Given the description of an element on the screen output the (x, y) to click on. 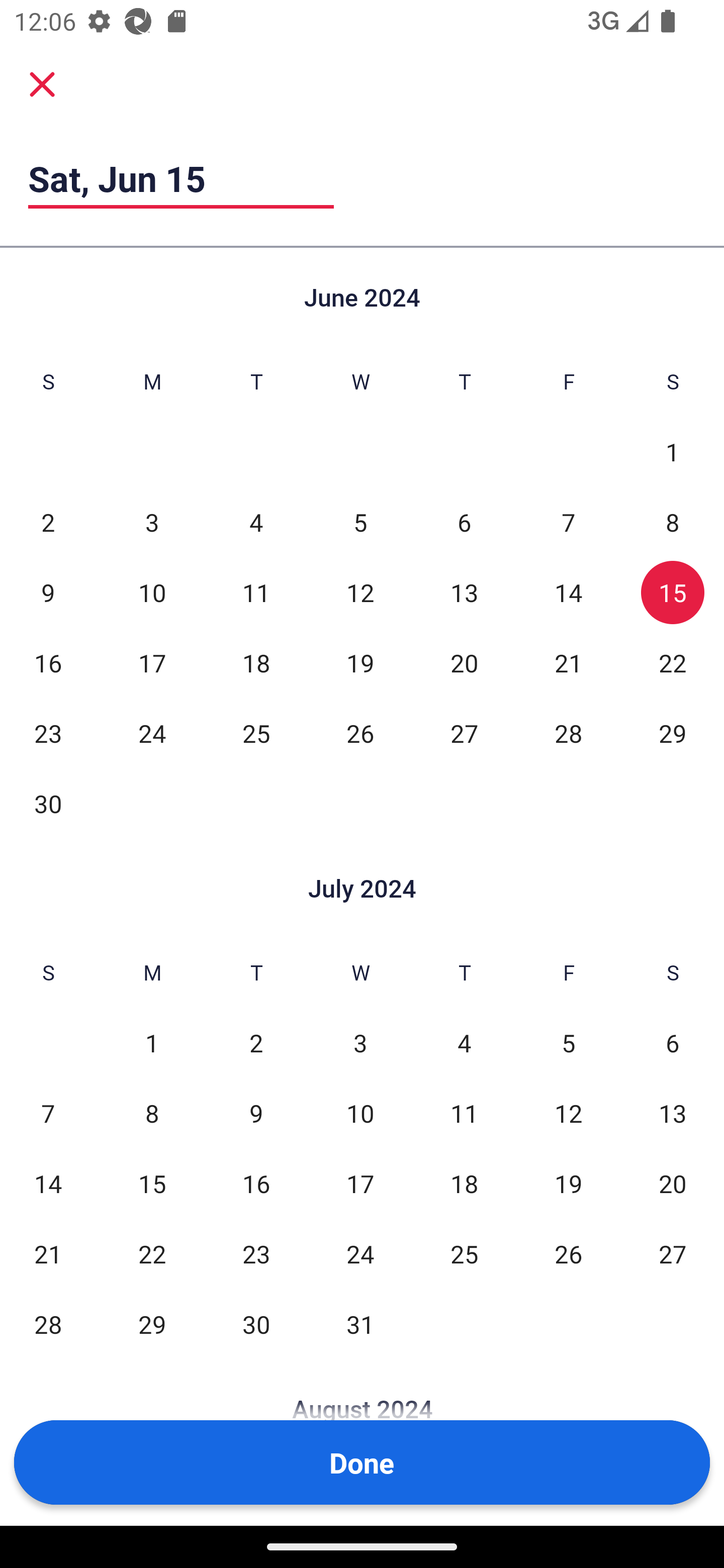
Cancel (42, 84)
Sat, Jun 15 (180, 178)
1 Sat, Jun 1, Not Selected (672, 452)
2 Sun, Jun 2, Not Selected (48, 521)
3 Mon, Jun 3, Not Selected (152, 521)
4 Tue, Jun 4, Not Selected (256, 521)
5 Wed, Jun 5, Not Selected (360, 521)
6 Thu, Jun 6, Not Selected (464, 521)
7 Fri, Jun 7, Not Selected (568, 521)
8 Sat, Jun 8, Not Selected (672, 521)
9 Sun, Jun 9, Not Selected (48, 591)
10 Mon, Jun 10, Not Selected (152, 591)
11 Tue, Jun 11, Not Selected (256, 591)
12 Wed, Jun 12, Not Selected (360, 591)
13 Thu, Jun 13, Not Selected (464, 591)
14 Fri, Jun 14, Not Selected (568, 591)
15 Sat, Jun 15, Selected (672, 591)
16 Sun, Jun 16, Not Selected (48, 662)
17 Mon, Jun 17, Not Selected (152, 662)
18 Tue, Jun 18, Not Selected (256, 662)
19 Wed, Jun 19, Not Selected (360, 662)
20 Thu, Jun 20, Not Selected (464, 662)
21 Fri, Jun 21, Not Selected (568, 662)
22 Sat, Jun 22, Not Selected (672, 662)
23 Sun, Jun 23, Not Selected (48, 732)
24 Mon, Jun 24, Not Selected (152, 732)
25 Tue, Jun 25, Not Selected (256, 732)
26 Wed, Jun 26, Not Selected (360, 732)
27 Thu, Jun 27, Not Selected (464, 732)
28 Fri, Jun 28, Not Selected (568, 732)
29 Sat, Jun 29, Not Selected (672, 732)
30 Sun, Jun 30, Not Selected (48, 803)
1 Mon, Jul 1, Not Selected (152, 1043)
2 Tue, Jul 2, Not Selected (256, 1043)
3 Wed, Jul 3, Not Selected (360, 1043)
4 Thu, Jul 4, Not Selected (464, 1043)
5 Fri, Jul 5, Not Selected (568, 1043)
6 Sat, Jul 6, Not Selected (672, 1043)
7 Sun, Jul 7, Not Selected (48, 1112)
8 Mon, Jul 8, Not Selected (152, 1112)
9 Tue, Jul 9, Not Selected (256, 1112)
10 Wed, Jul 10, Not Selected (360, 1112)
11 Thu, Jul 11, Not Selected (464, 1112)
12 Fri, Jul 12, Not Selected (568, 1112)
13 Sat, Jul 13, Not Selected (672, 1112)
14 Sun, Jul 14, Not Selected (48, 1182)
15 Mon, Jul 15, Not Selected (152, 1182)
16 Tue, Jul 16, Not Selected (256, 1182)
17 Wed, Jul 17, Not Selected (360, 1182)
18 Thu, Jul 18, Not Selected (464, 1182)
19 Fri, Jul 19, Not Selected (568, 1182)
20 Sat, Jul 20, Not Selected (672, 1182)
21 Sun, Jul 21, Not Selected (48, 1253)
22 Mon, Jul 22, Not Selected (152, 1253)
23 Tue, Jul 23, Not Selected (256, 1253)
24 Wed, Jul 24, Not Selected (360, 1253)
25 Thu, Jul 25, Not Selected (464, 1253)
26 Fri, Jul 26, Not Selected (568, 1253)
27 Sat, Jul 27, Not Selected (672, 1253)
28 Sun, Jul 28, Not Selected (48, 1323)
29 Mon, Jul 29, Not Selected (152, 1323)
30 Tue, Jul 30, Not Selected (256, 1323)
31 Wed, Jul 31, Not Selected (360, 1323)
Done Button Done (361, 1462)
